Given the description of an element on the screen output the (x, y) to click on. 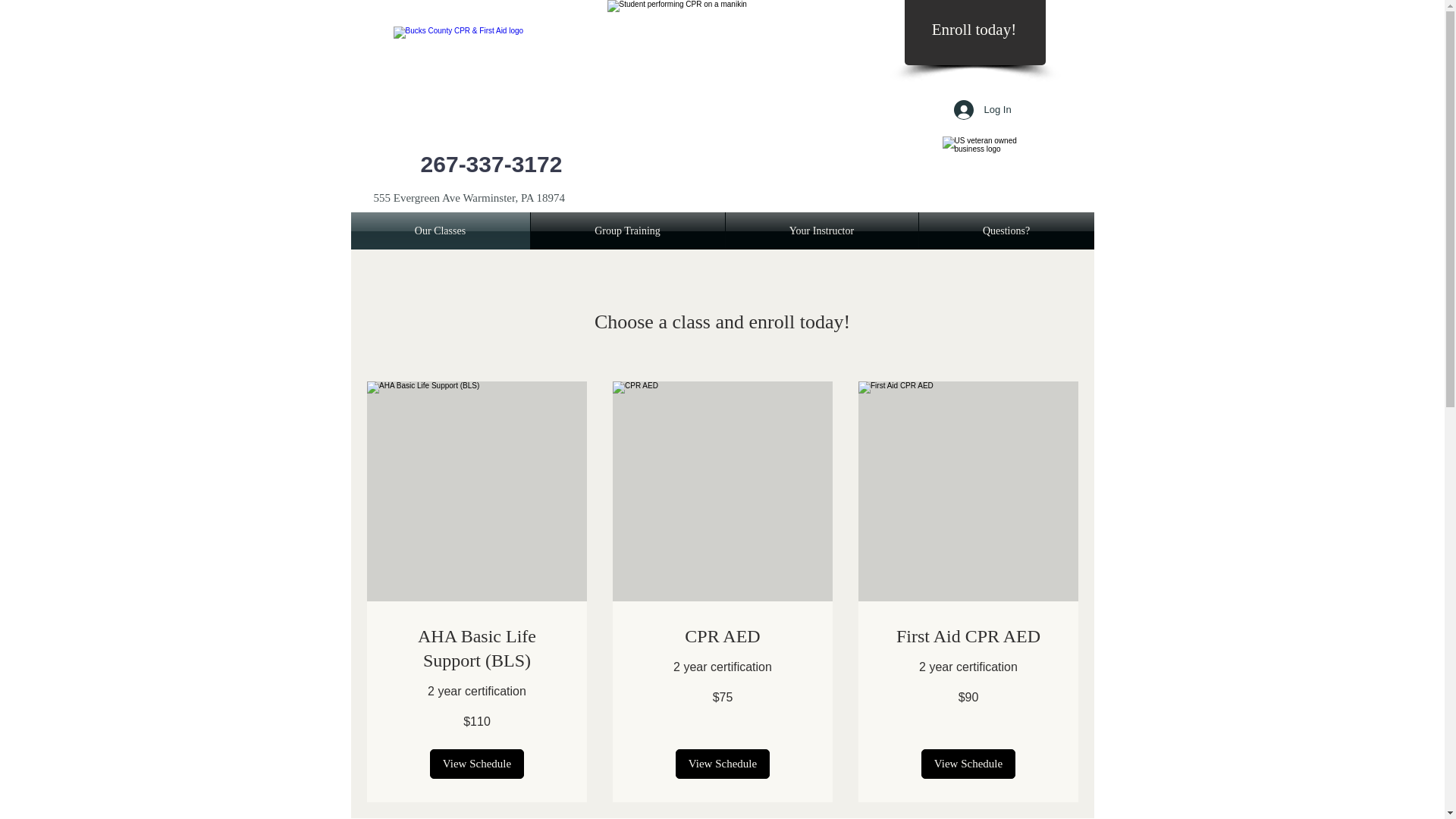
CPR AED (721, 636)
Your Instructor (821, 231)
Group Training (628, 231)
View Schedule (475, 763)
Questions? (1006, 231)
Our Classes (439, 231)
Log In (974, 109)
First Aid CPR AED (967, 636)
View Schedule (721, 763)
View Schedule (967, 763)
